Given the description of an element on the screen output the (x, y) to click on. 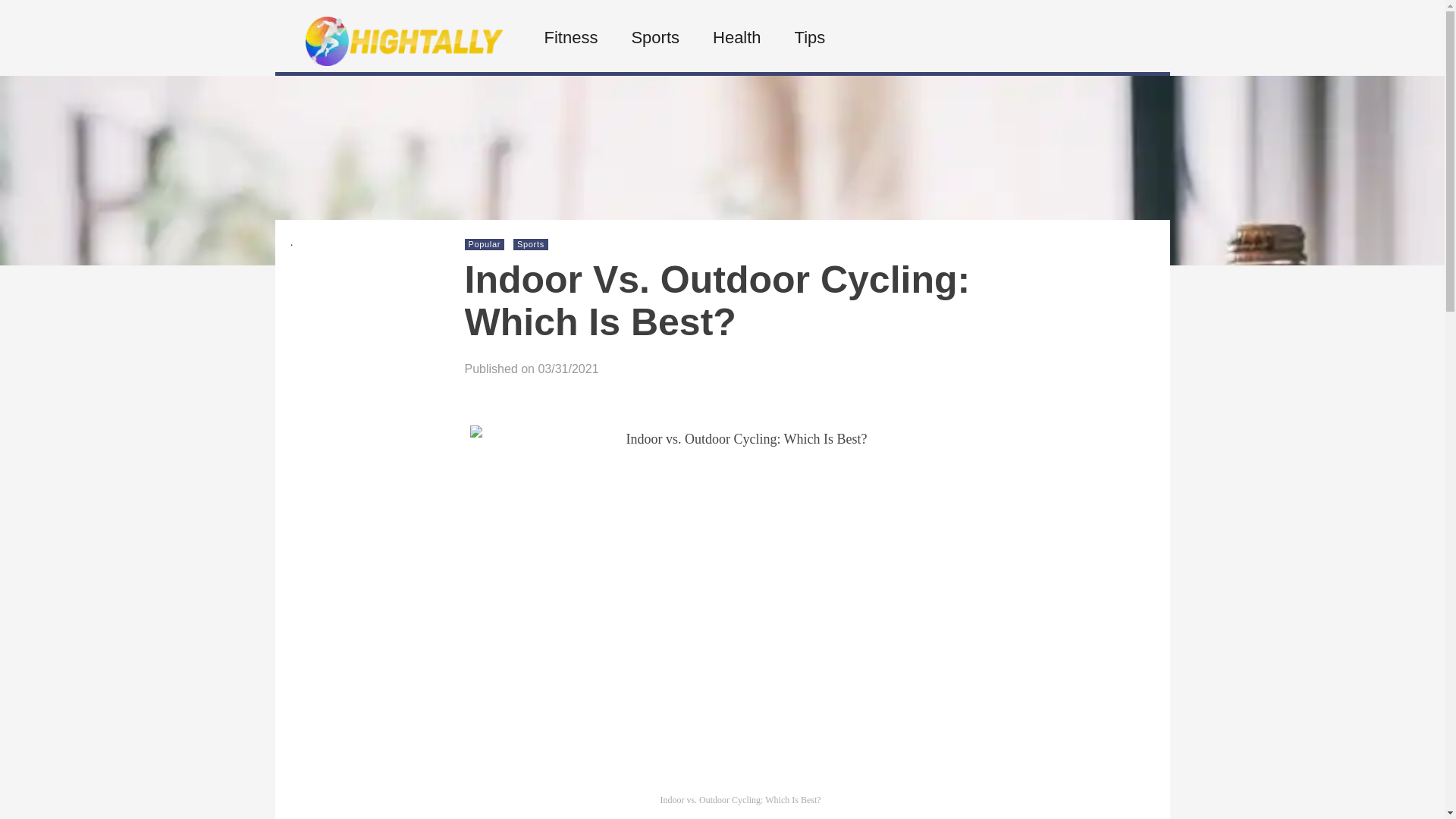
Popular (484, 243)
Sports (653, 37)
Hightally (403, 61)
Fitness (568, 37)
Sports (530, 243)
Tips (807, 37)
Health (735, 37)
